Given the description of an element on the screen output the (x, y) to click on. 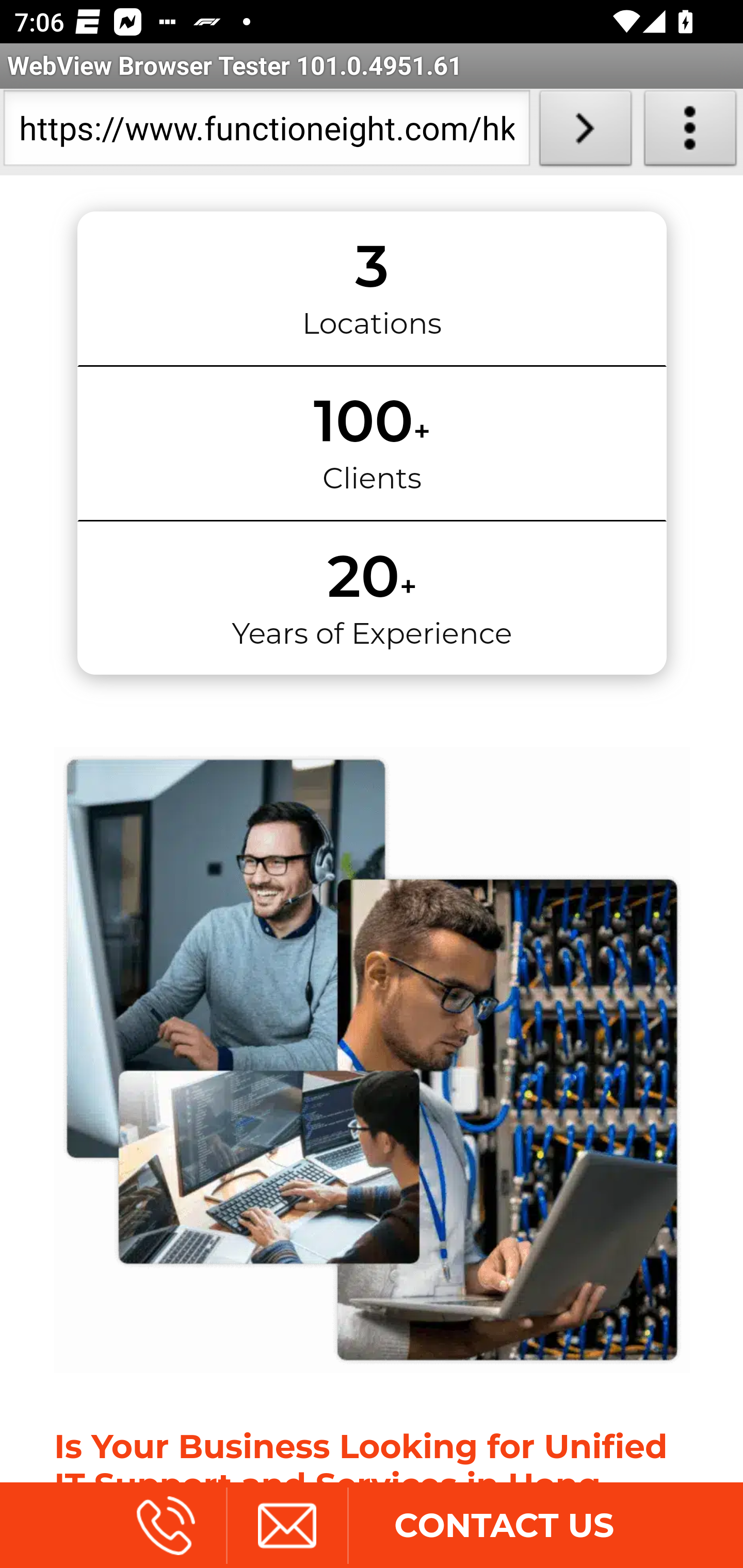
Load URL (585, 132)
About WebView (690, 132)
email (286, 1524)
CONTACT US (504, 1524)
